Given the description of an element on the screen output the (x, y) to click on. 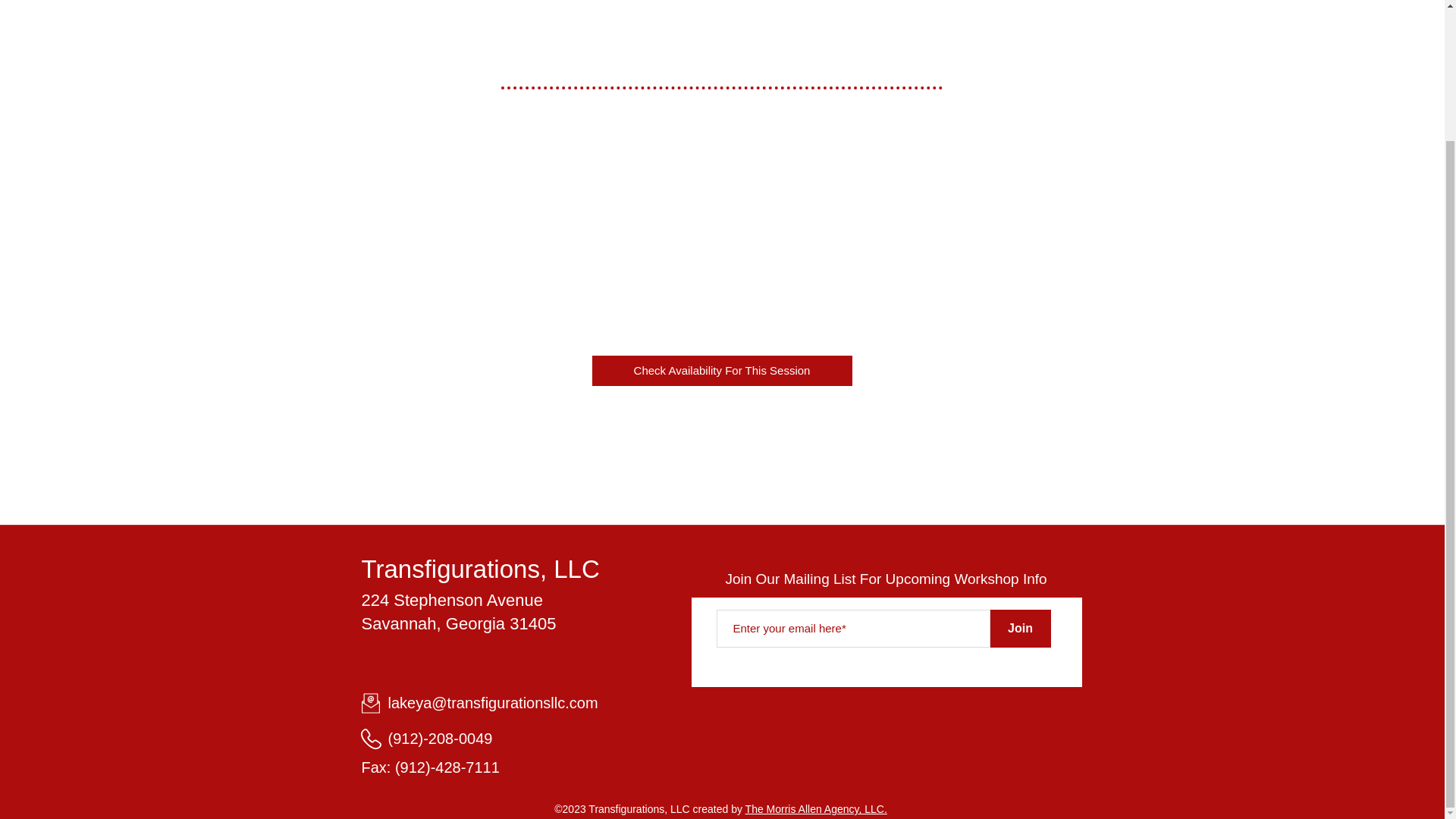
Join (1020, 628)
The Morris Allen Agency, LLC. (815, 808)
Check Availability For This Session (721, 370)
